Given the description of an element on the screen output the (x, y) to click on. 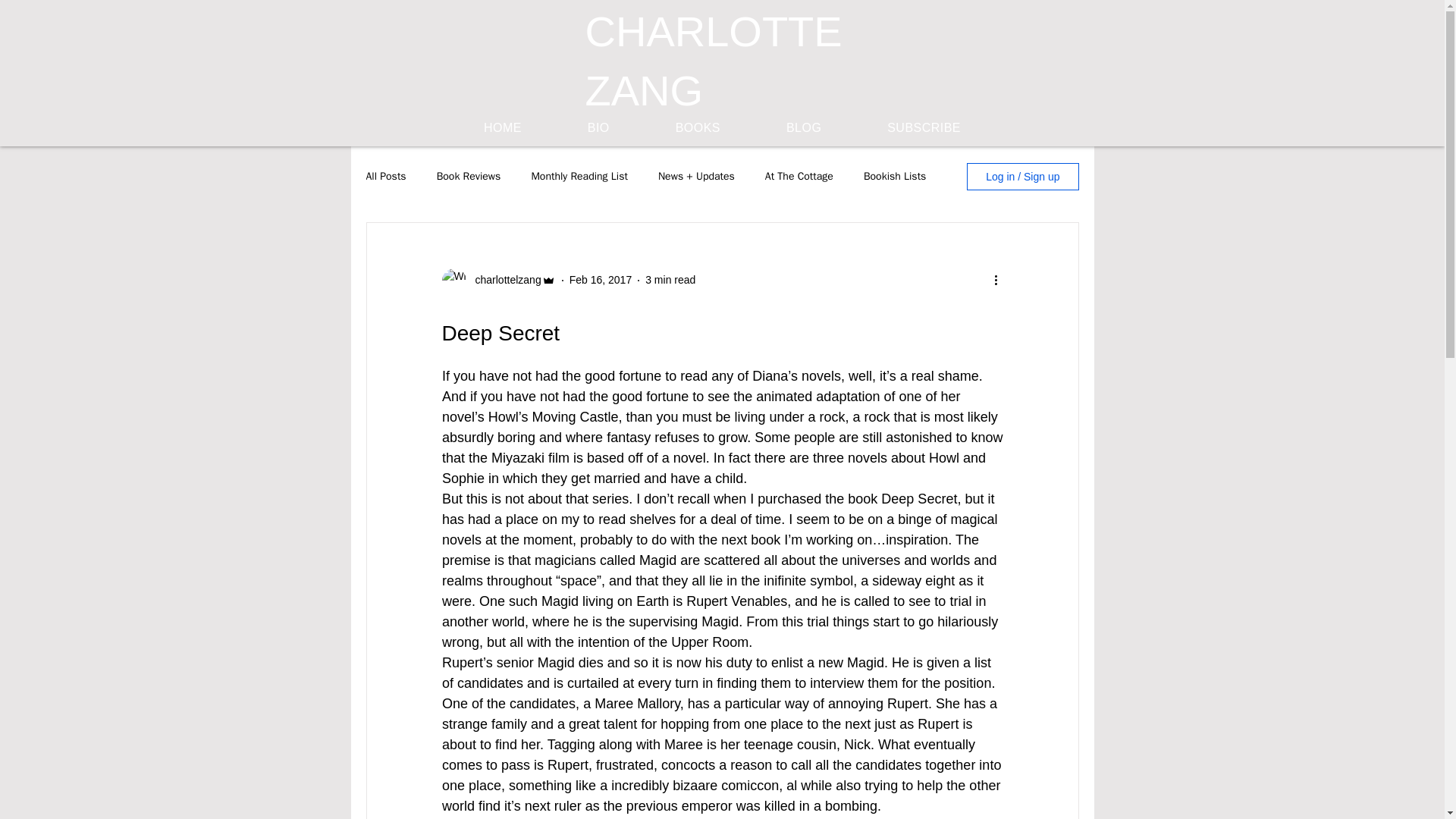
3 min read (670, 279)
Monthly Reading List (579, 176)
At The Cottage (798, 176)
SUBSCRIBE (924, 127)
Book Reviews (468, 176)
BLOG (802, 127)
BIO (598, 127)
HOME (501, 127)
charlottelzang (502, 279)
All Posts (385, 176)
